Given the description of an element on the screen output the (x, y) to click on. 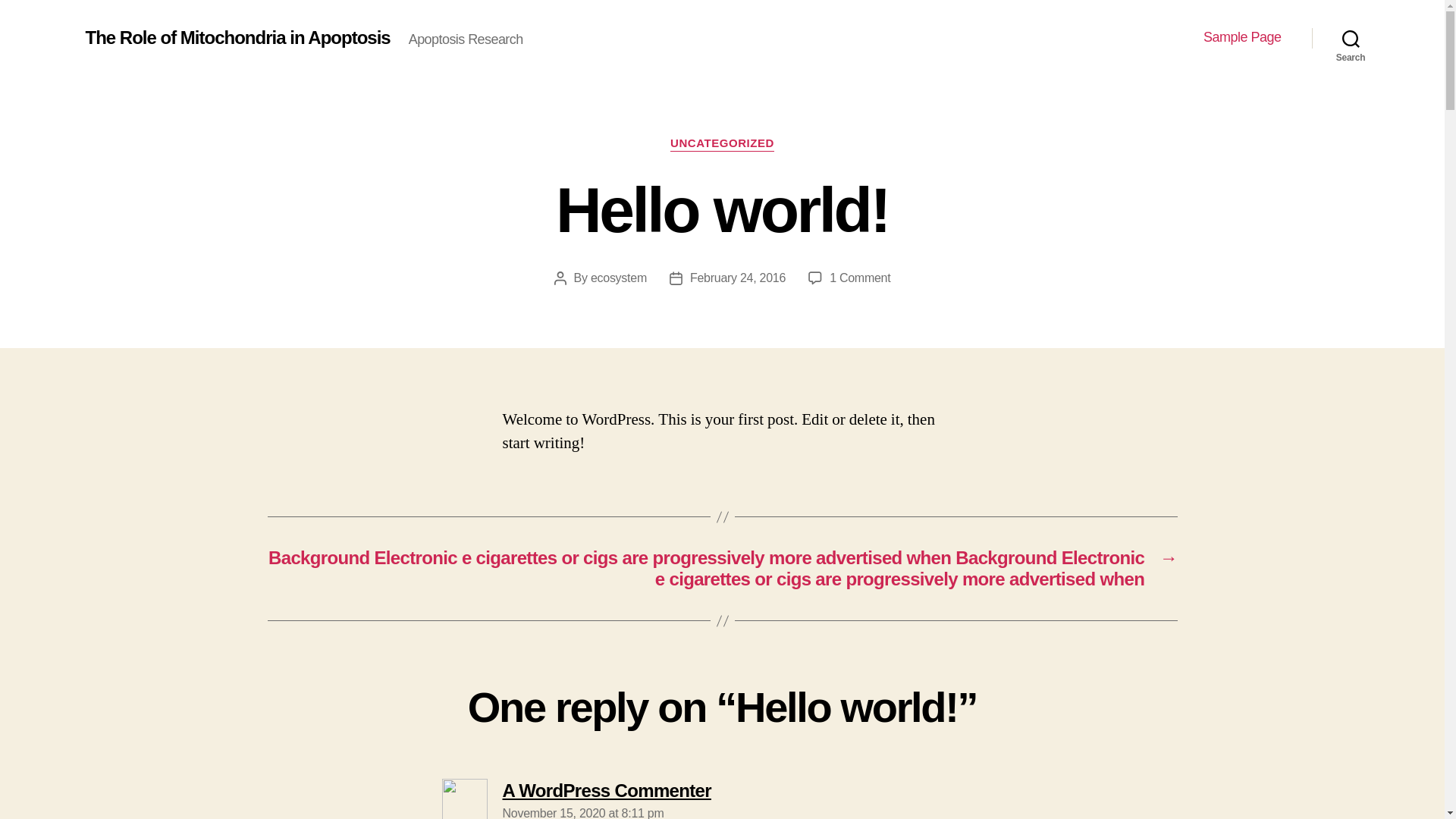
ecosystem (618, 277)
November 15, 2020 at 8:11 pm (606, 790)
November 15, 2020 at 8:11 pm (582, 812)
Search (582, 812)
Sample Page (1350, 37)
The Role of Mitochondria in Apoptosis (1242, 37)
February 24, 2016 (237, 37)
UNCATEGORIZED (738, 277)
